Given the description of an element on the screen output the (x, y) to click on. 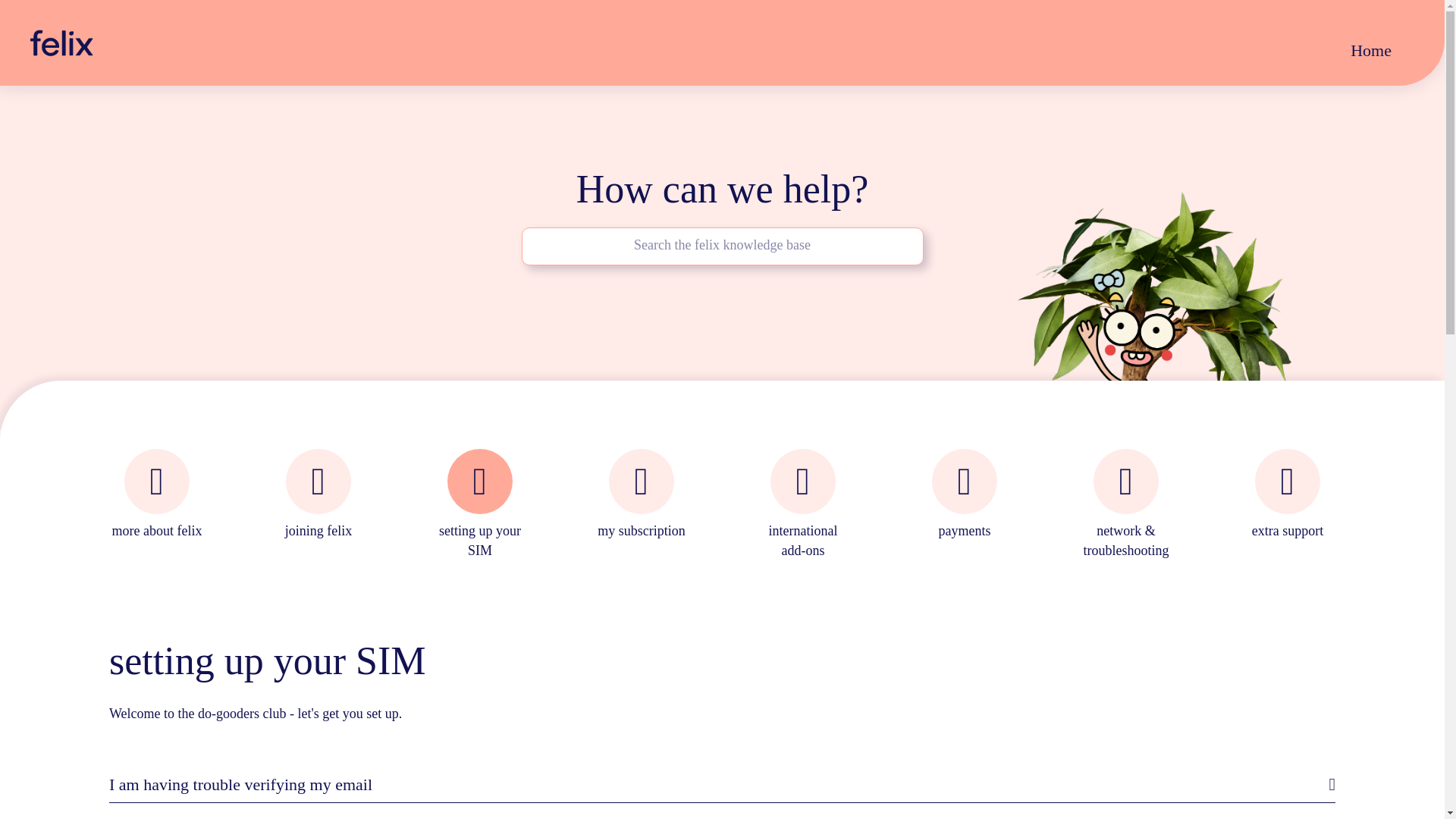
joining felix Element type: text (318, 505)
payments Element type: text (964, 505)
setting up your SIM Element type: text (479, 505)
extra support Element type: text (1287, 505)
more about felix Element type: text (156, 505)
international add-ons Element type: text (802, 505)
network & troubleshooting Element type: text (1125, 505)
my subscription Element type: text (641, 505)
Home Element type: text (1370, 49)
